Given the description of an element on the screen output the (x, y) to click on. 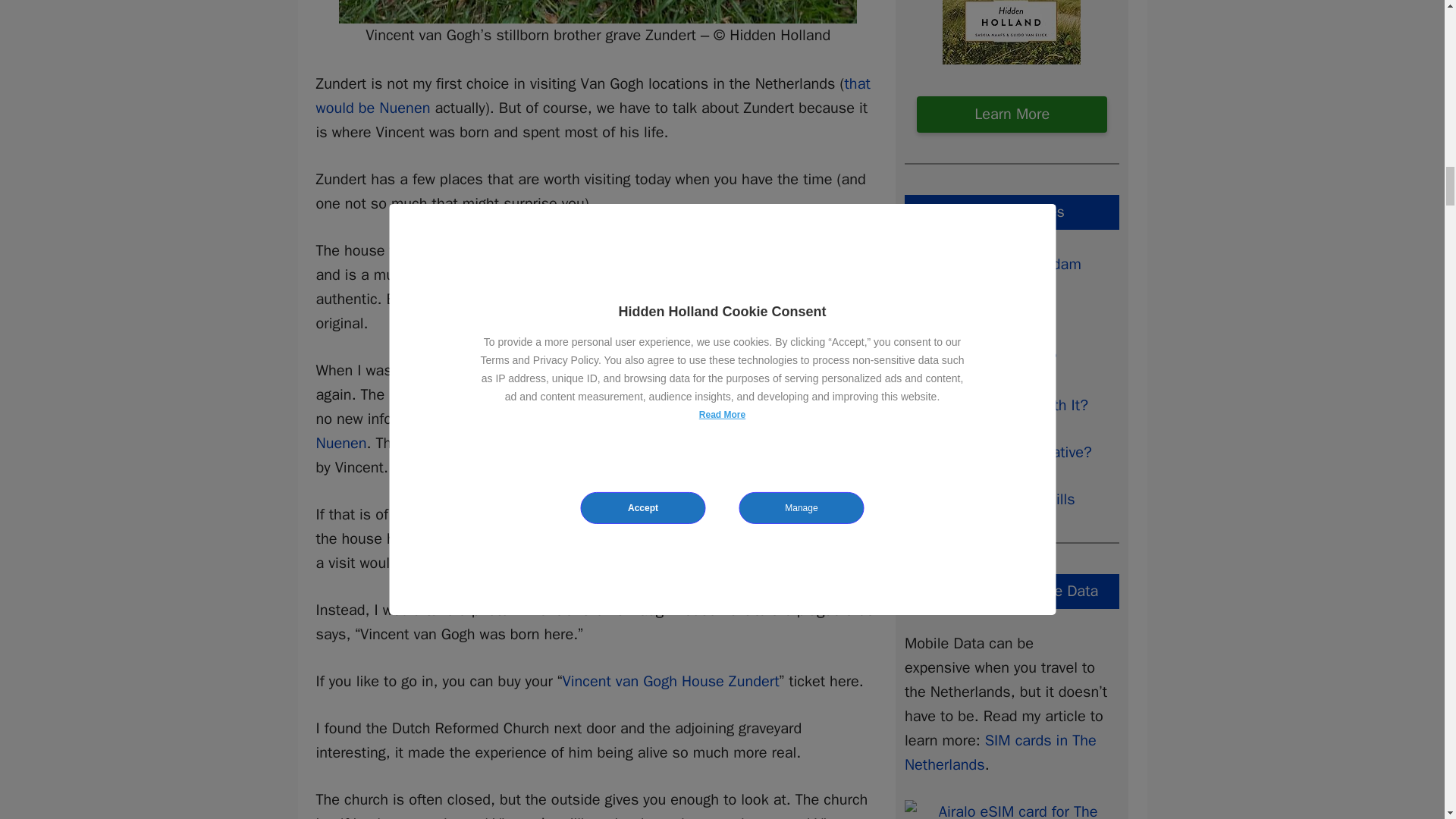
vincent-van-goghs-stillborn-brother-grave-zundert (598, 11)
airalo-esim (1011, 809)
